Given the description of an element on the screen output the (x, y) to click on. 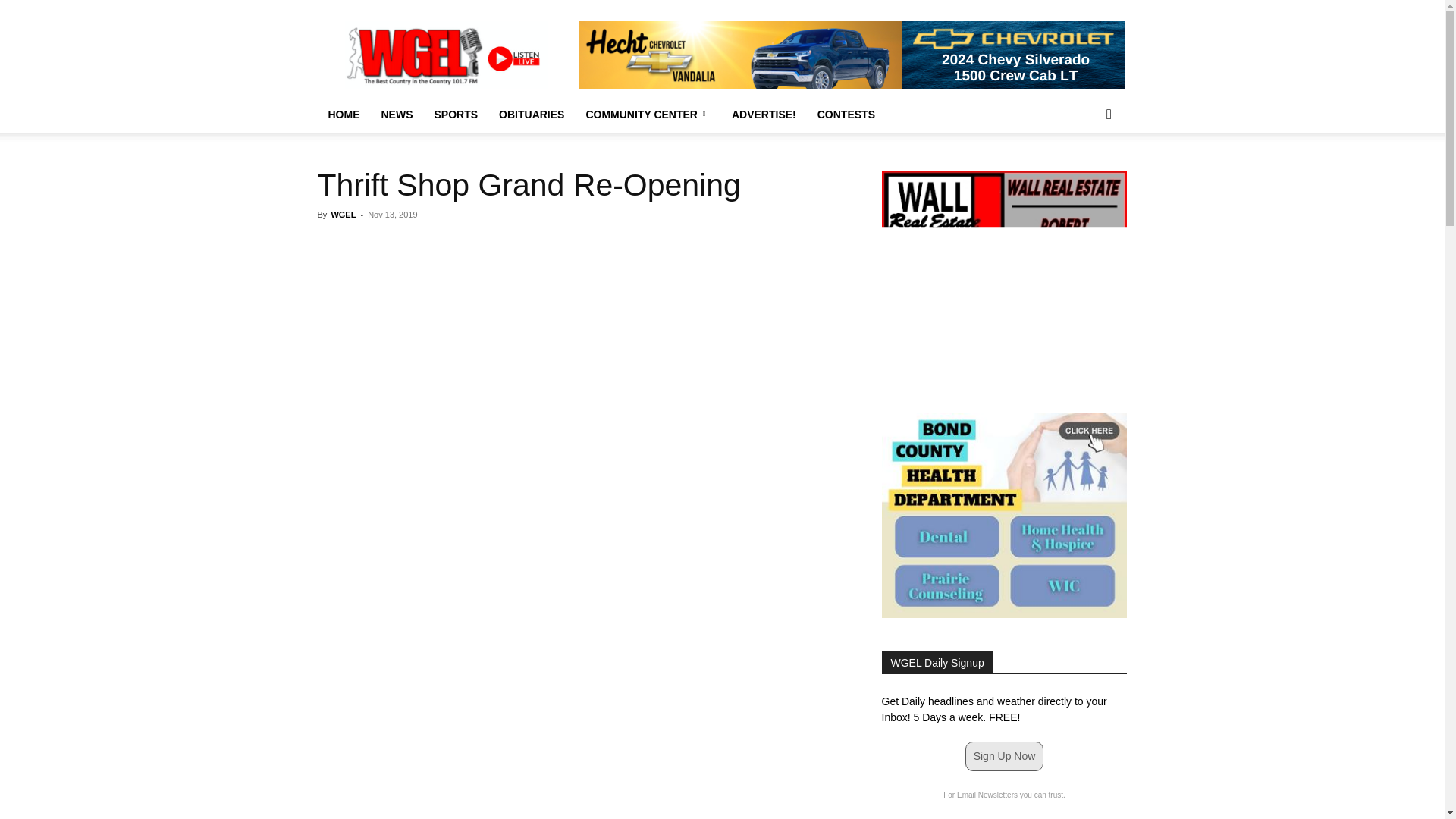
HOME (343, 114)
ADVERTISE! (763, 114)
CONTESTS (845, 114)
OBITUARIES (531, 114)
WGEL (342, 214)
SPORTS (455, 114)
COMMUNITY CENTER (647, 114)
WGEL Logo (446, 55)
Search (1085, 174)
NEWS (396, 114)
